Given the description of an element on the screen output the (x, y) to click on. 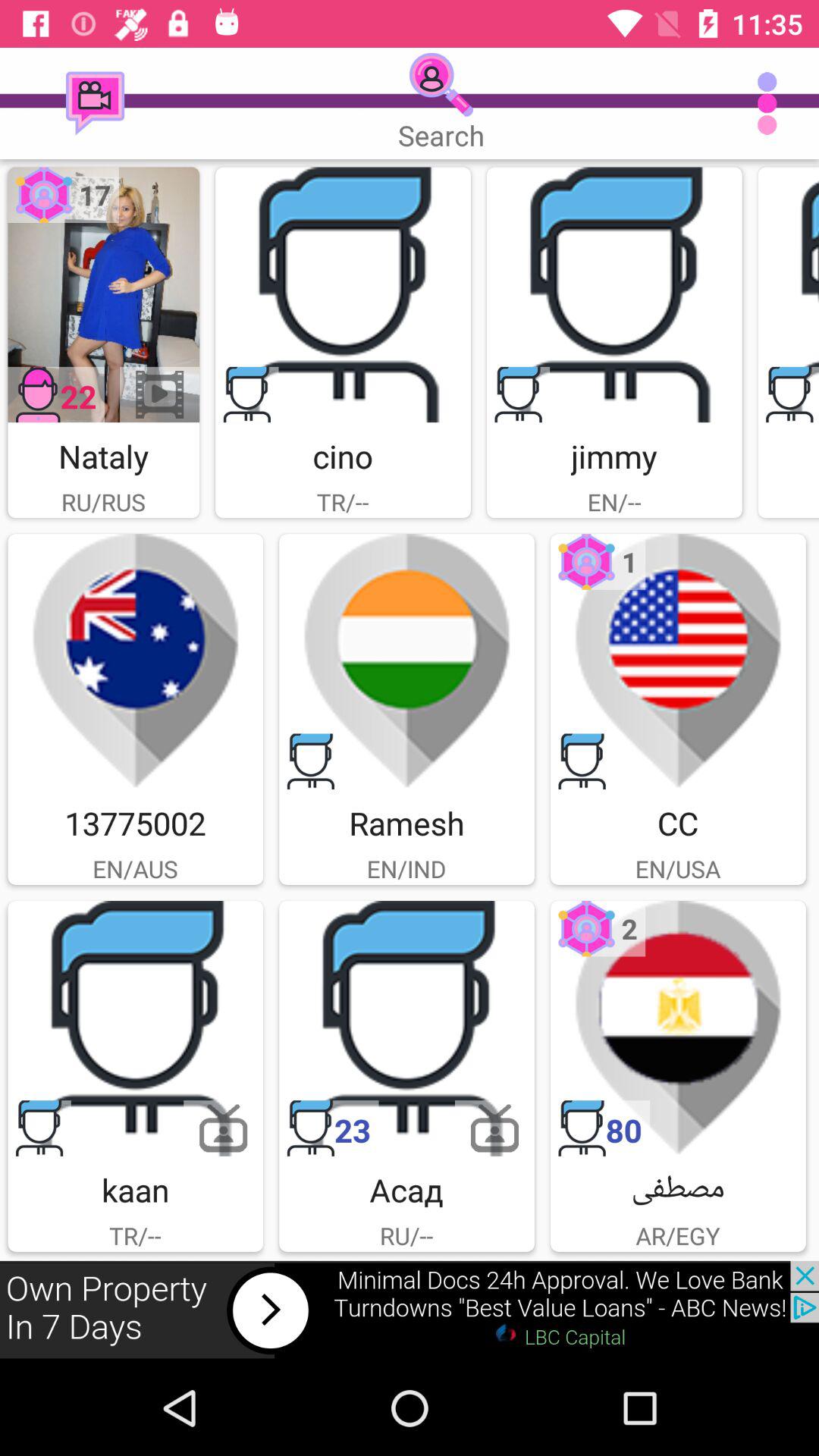
view profile (135, 1028)
